Given the description of an element on the screen output the (x, y) to click on. 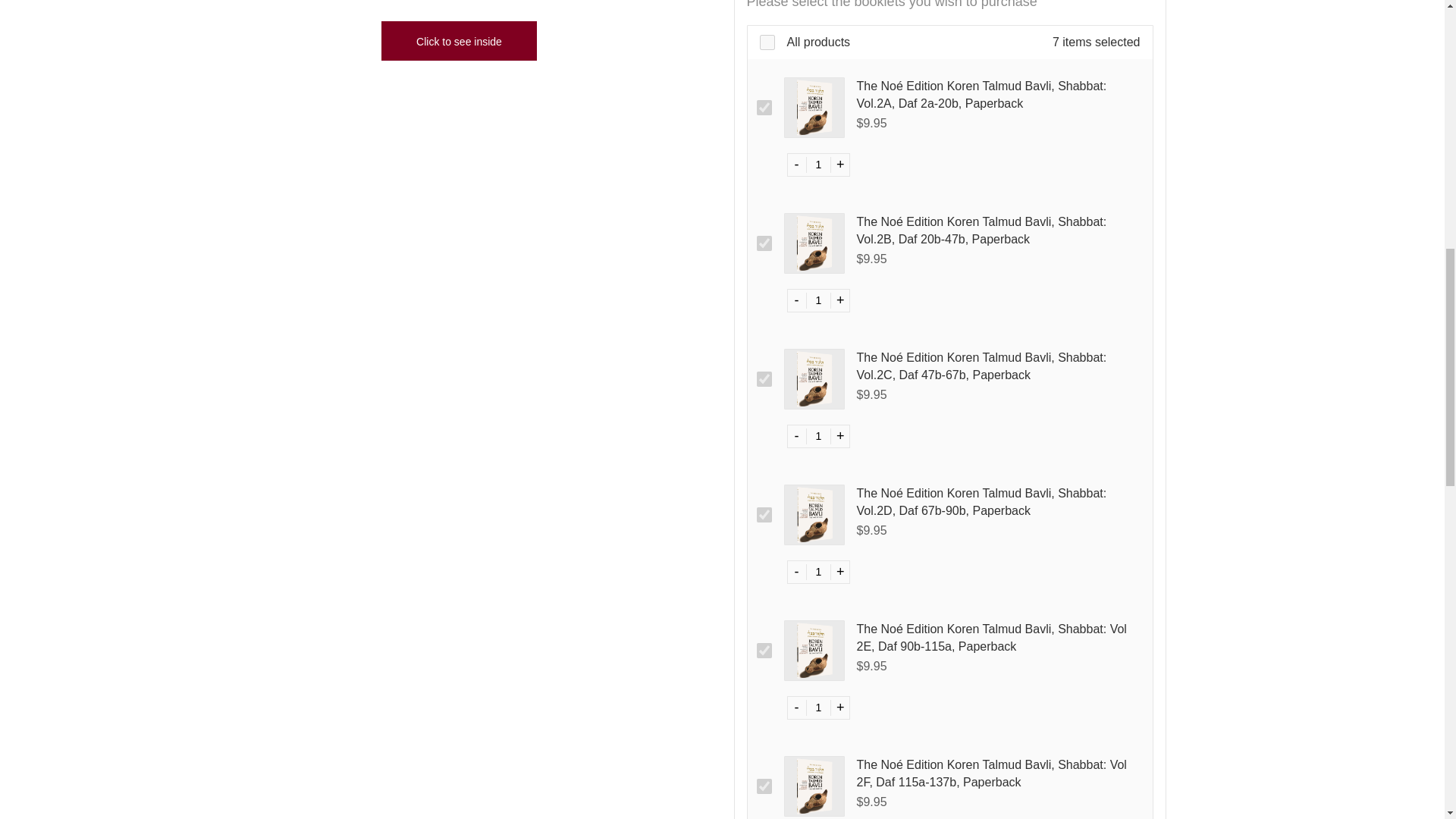
on (764, 514)
on (764, 107)
on (764, 242)
on (764, 785)
on (764, 650)
on (764, 378)
on (767, 42)
